Given the description of an element on the screen output the (x, y) to click on. 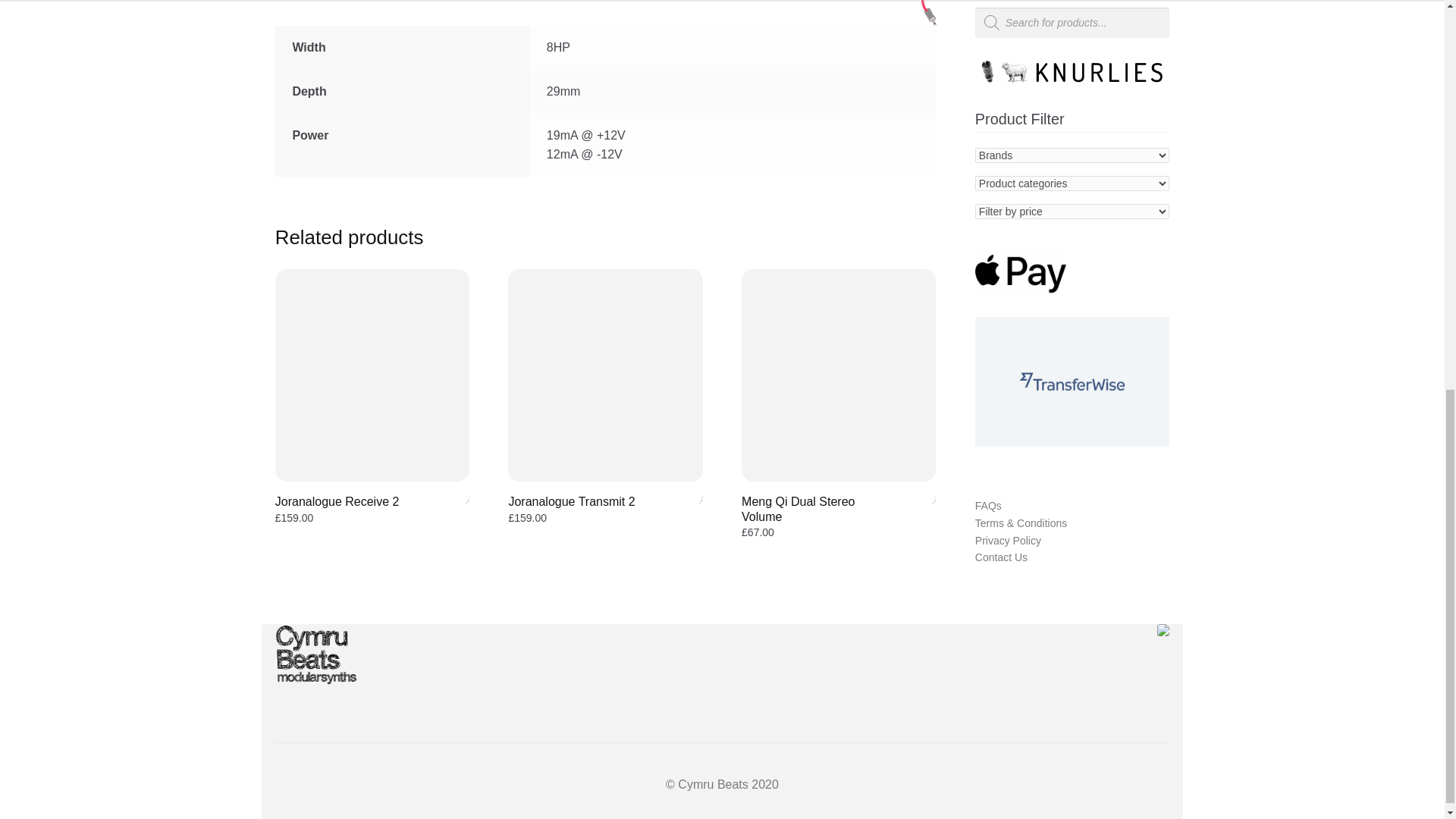
Add to basket (917, 505)
Add to basket (684, 505)
Add to basket (449, 505)
